Given the description of an element on the screen output the (x, y) to click on. 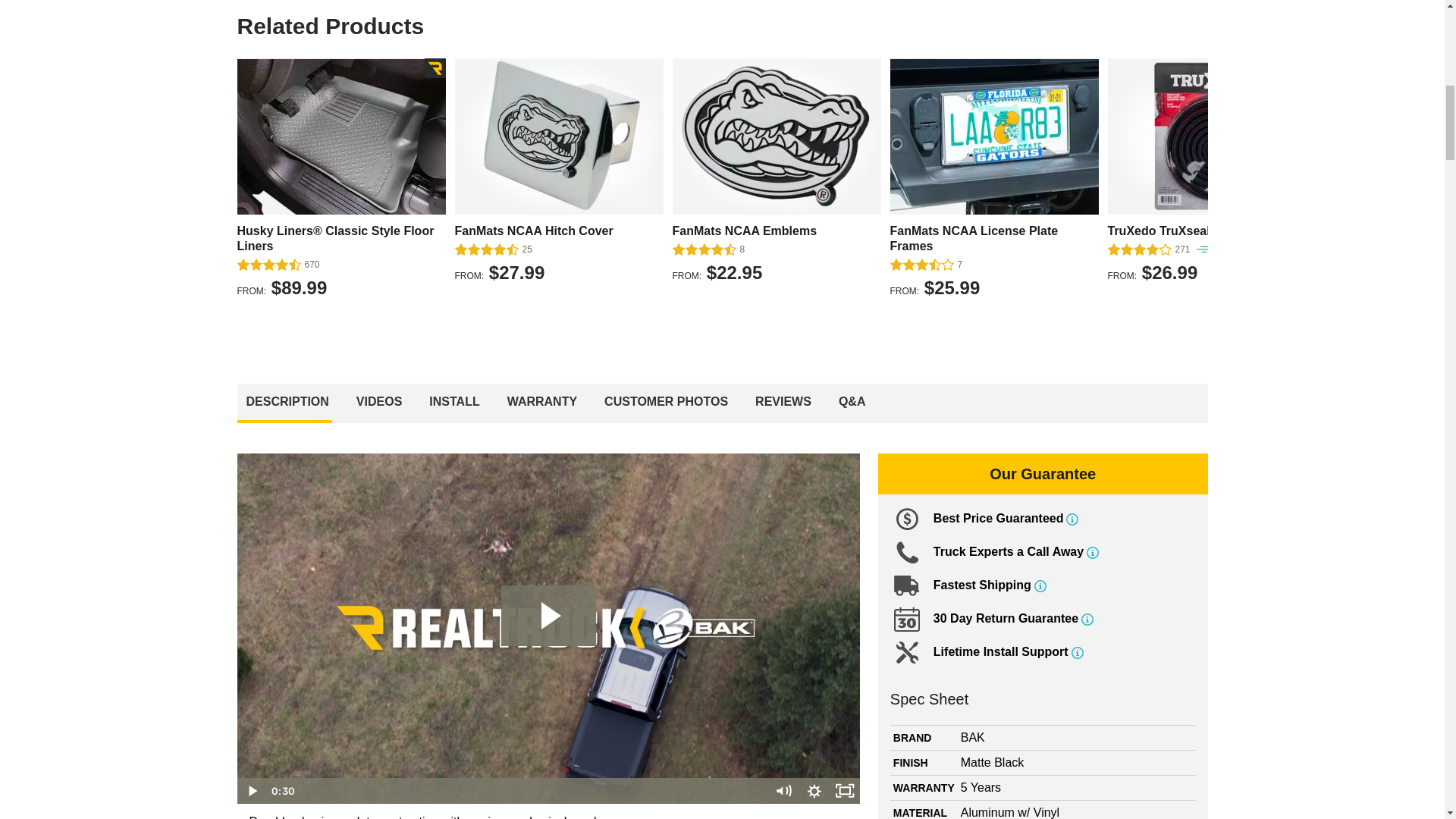
Show settings menu (814, 790)
